Given the description of an element on the screen output the (x, y) to click on. 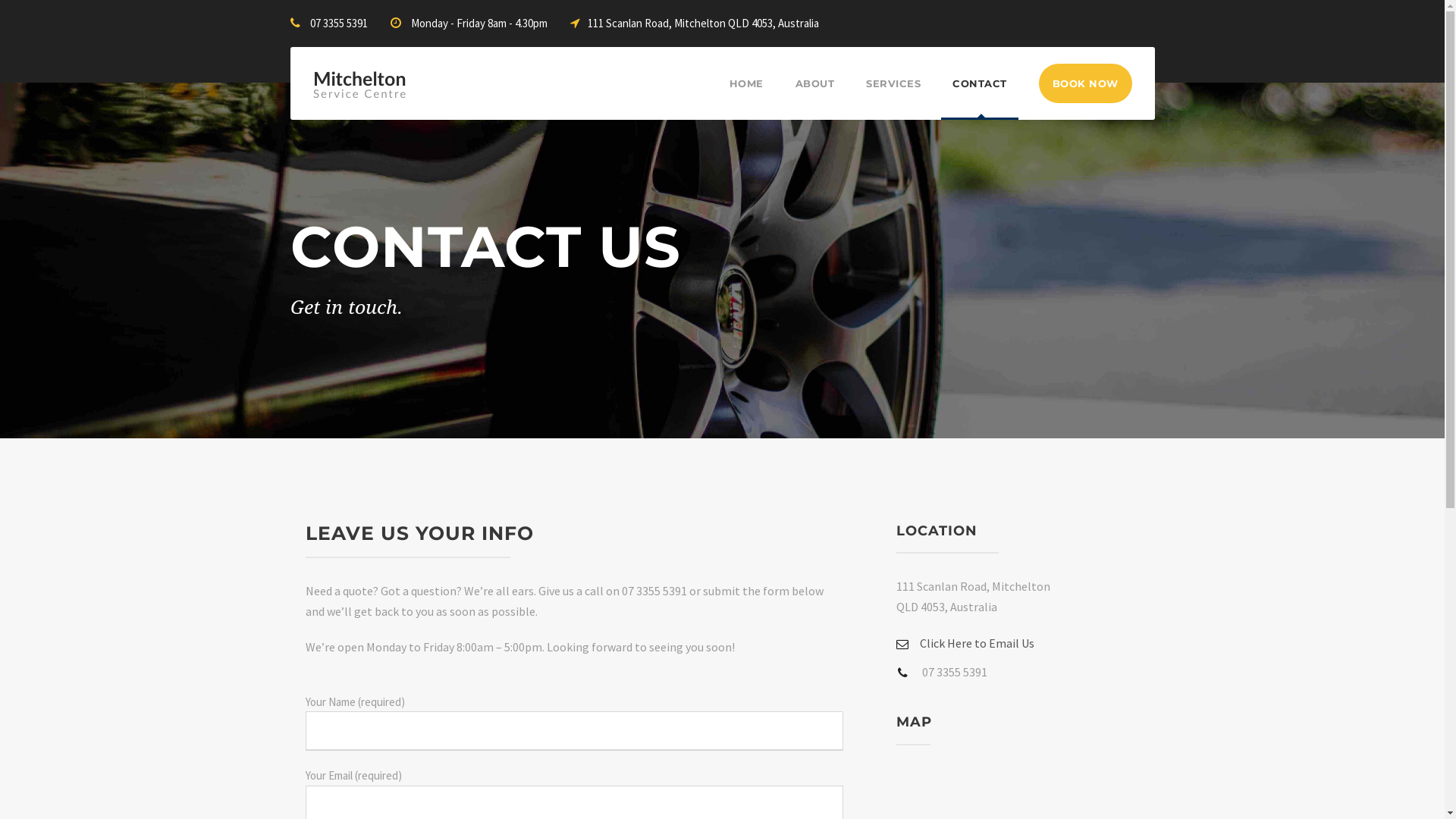
SERVICES Element type: text (893, 96)
ABOUT Element type: text (814, 96)
HOME Element type: text (746, 96)
Click Here to Email Us Element type: text (965, 641)
CONTACT Element type: text (979, 96)
BOOK NOW Element type: text (1085, 83)
